Given the description of an element on the screen output the (x, y) to click on. 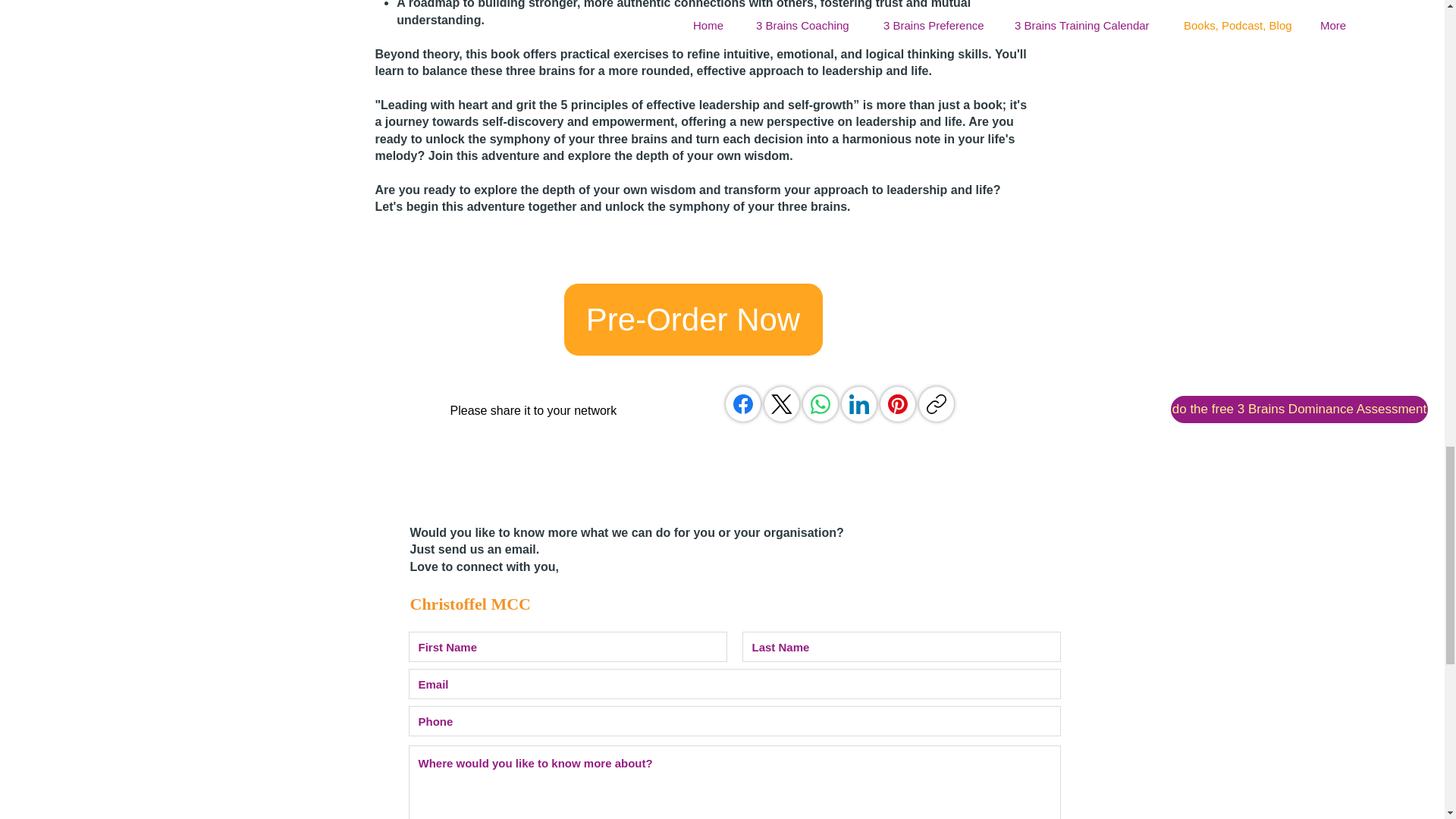
Pre-Order Now (692, 319)
